Given the description of an element on the screen output the (x, y) to click on. 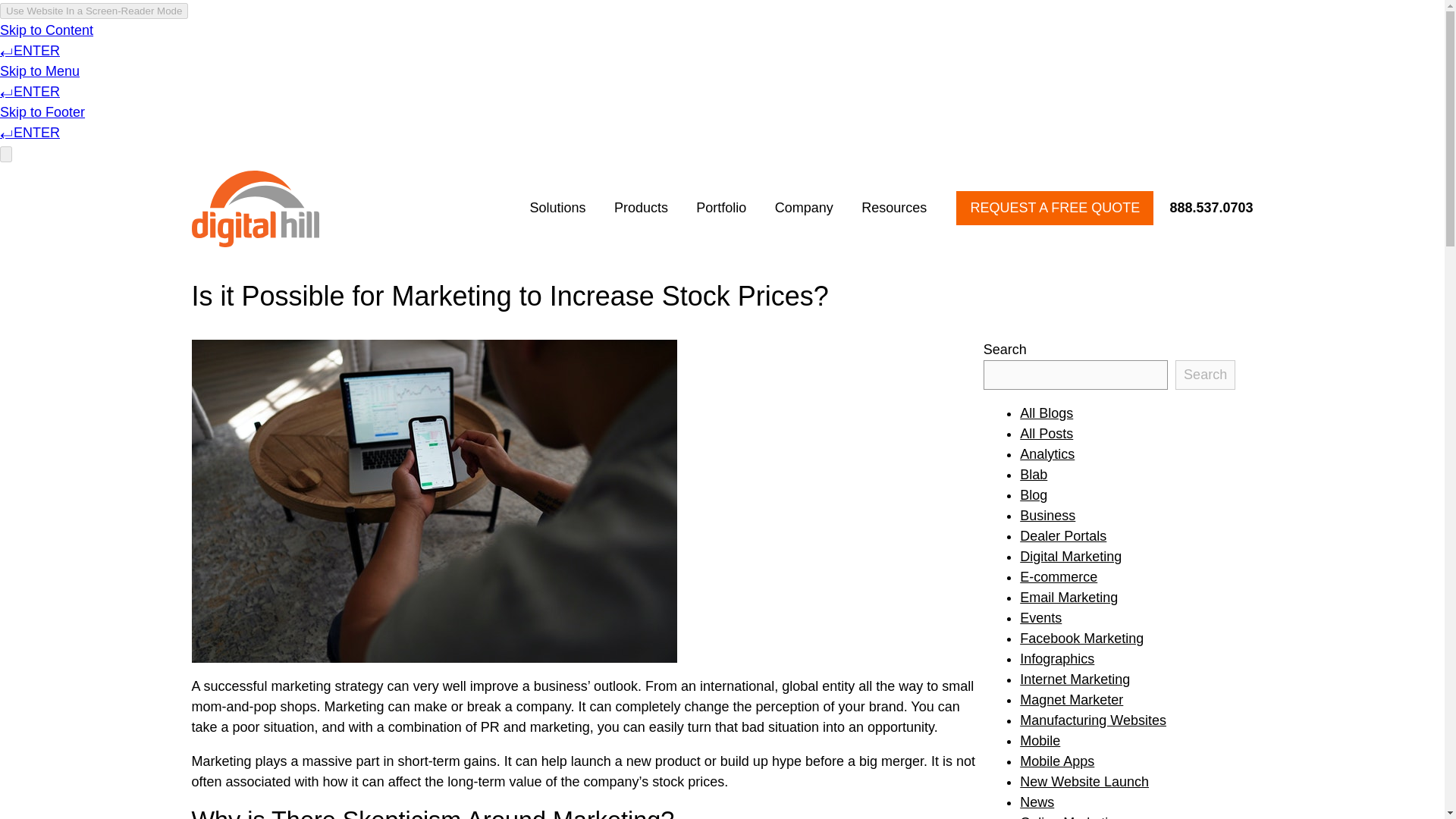
Analytics (1047, 453)
Internet Marketing (1074, 679)
888.537.0703 (1204, 207)
Manufacturing Websites (1093, 720)
Blog (1033, 494)
Events (1040, 617)
E-commerce (1058, 576)
Magnet Marketer (1071, 699)
Dealer Portals (1063, 535)
All Posts (1046, 433)
